Given the description of an element on the screen output the (x, y) to click on. 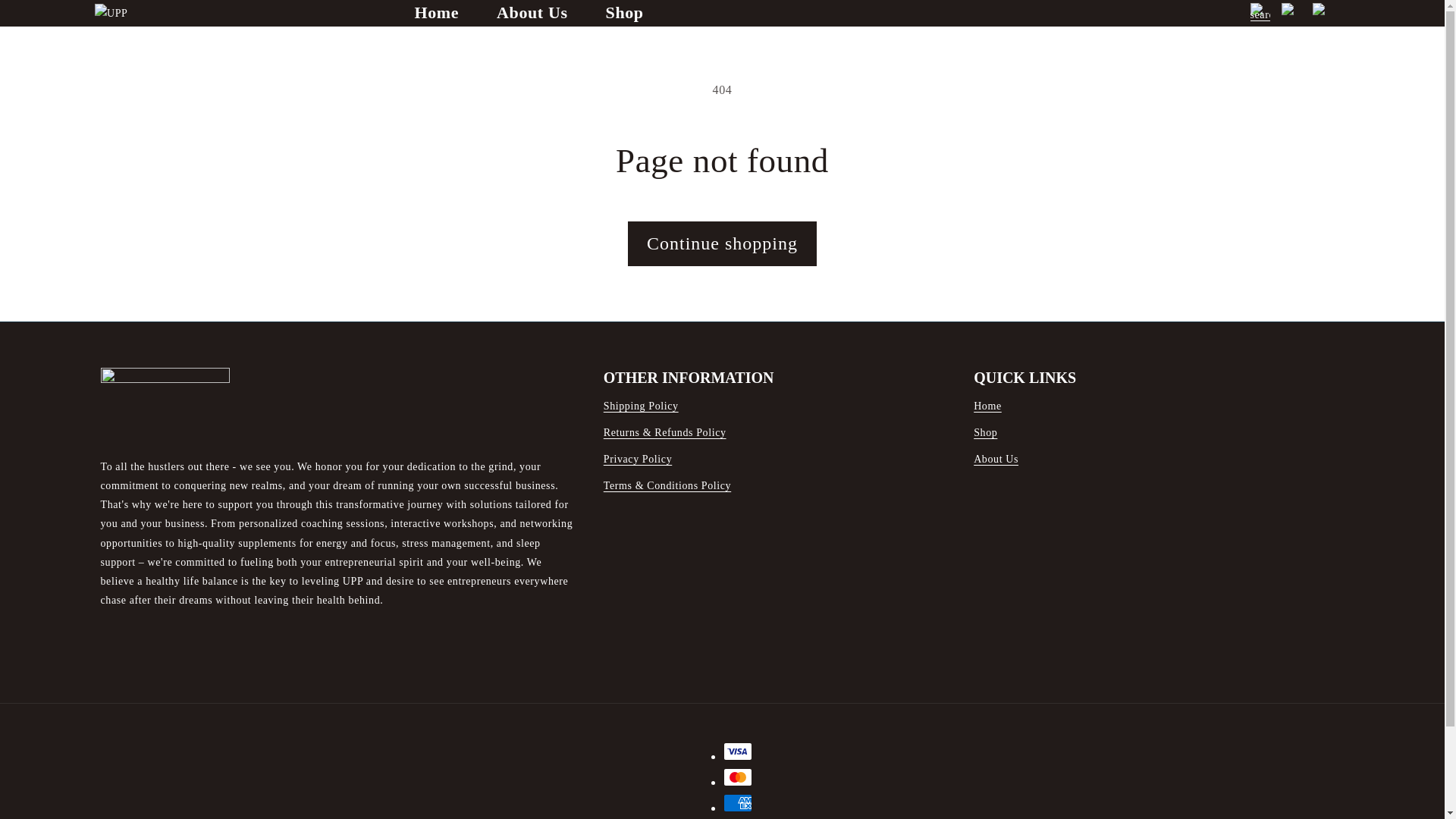
Mastercard (737, 777)
Shop (624, 13)
Privacy Policy (637, 458)
Log in (1291, 12)
Visa (737, 751)
Home (987, 407)
About Us (531, 13)
Skip to content (50, 22)
Shipping Policy (641, 407)
American Express (737, 802)
About Us (995, 458)
Home (437, 13)
Continue shopping (721, 243)
